Given the description of an element on the screen output the (x, y) to click on. 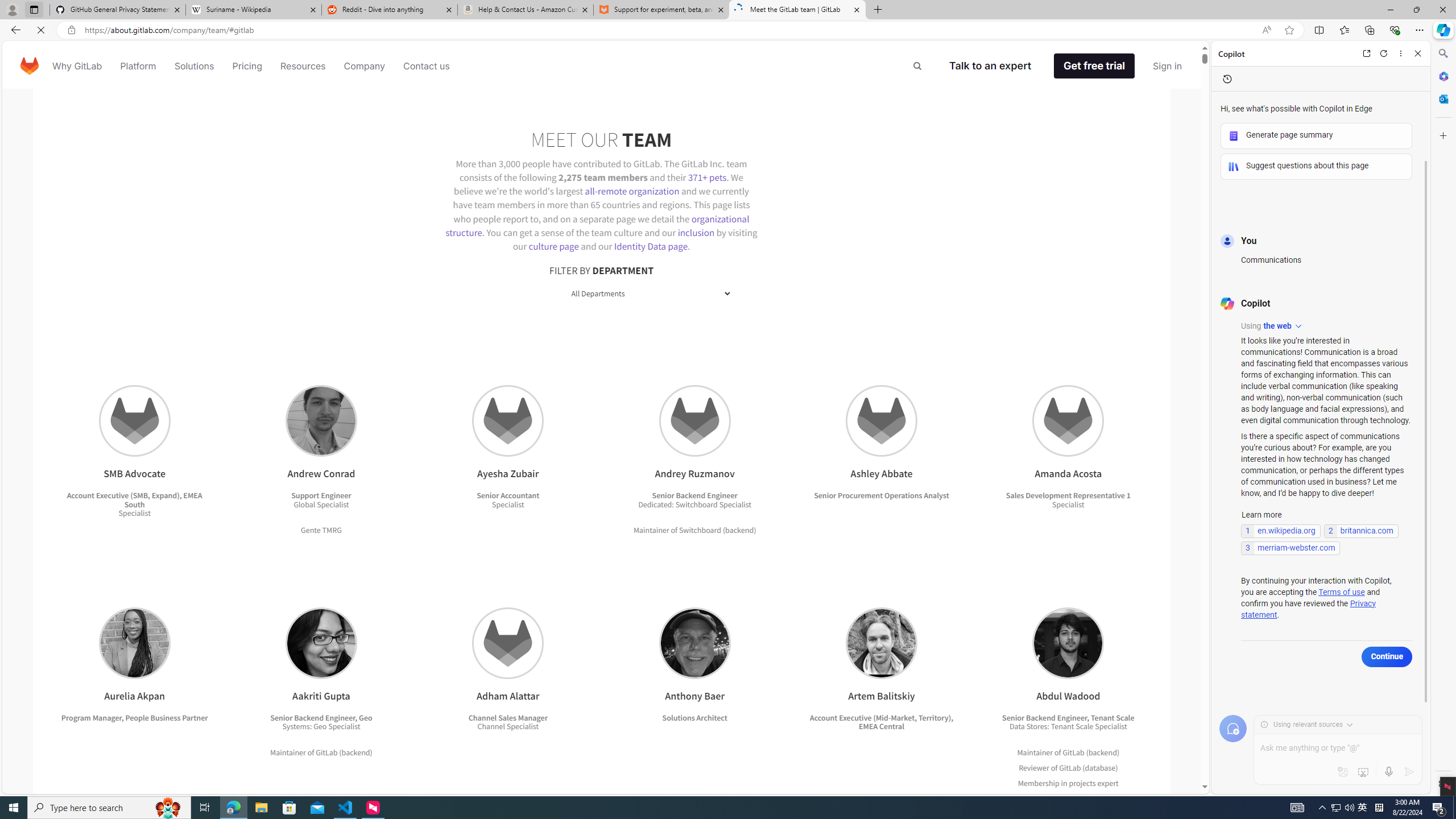
Pricing (246, 65)
Platform (138, 65)
GitLab home page (29, 65)
Company (364, 65)
Why GitLab (77, 65)
Why GitLab (77, 65)
